Given the description of an element on the screen output the (x, y) to click on. 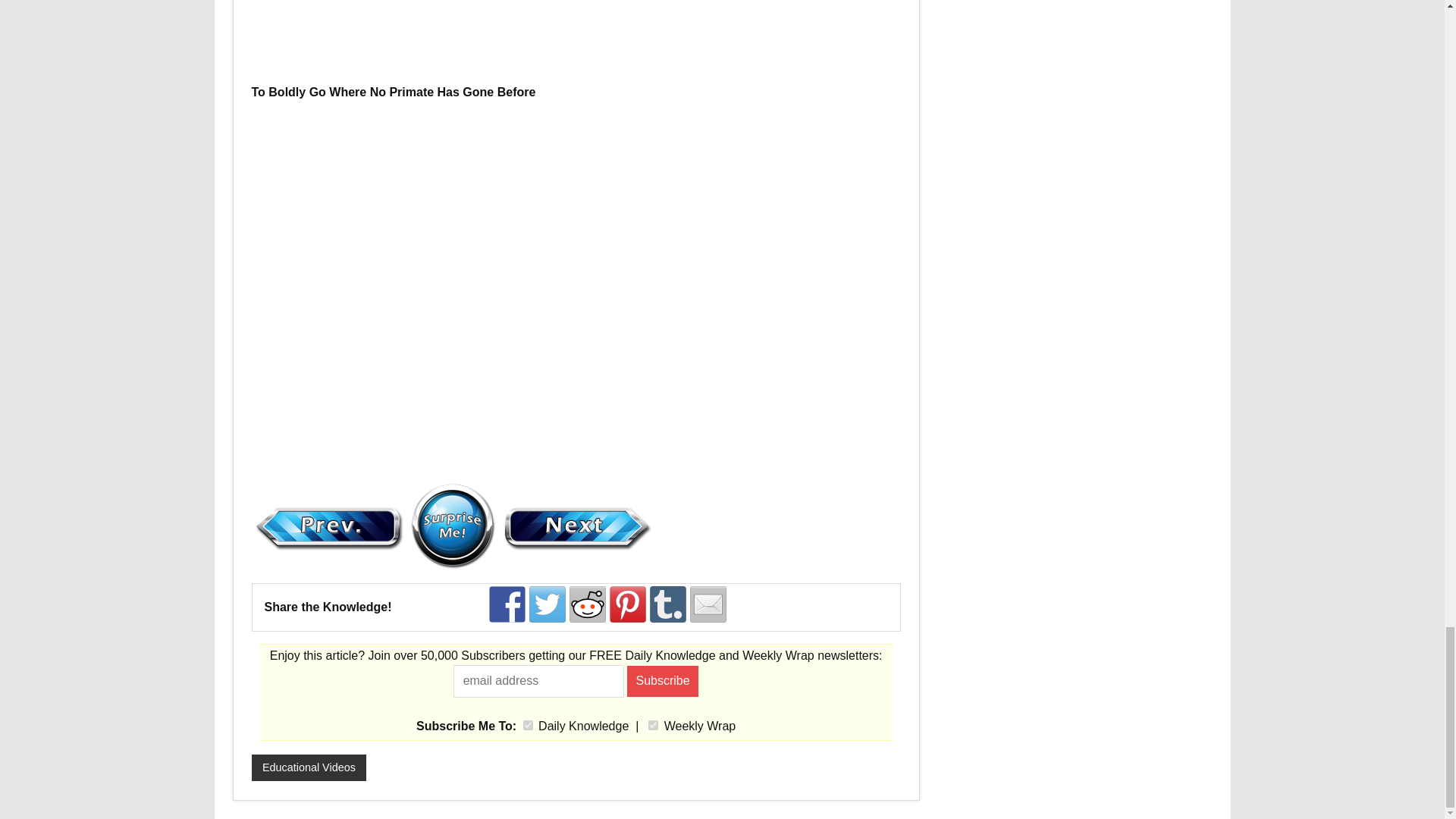
1 (527, 725)
2 (652, 725)
Share on Facebook (507, 604)
Random (451, 524)
Subscribe (662, 680)
Share on Twitter (547, 604)
